Given the description of an element on the screen output the (x, y) to click on. 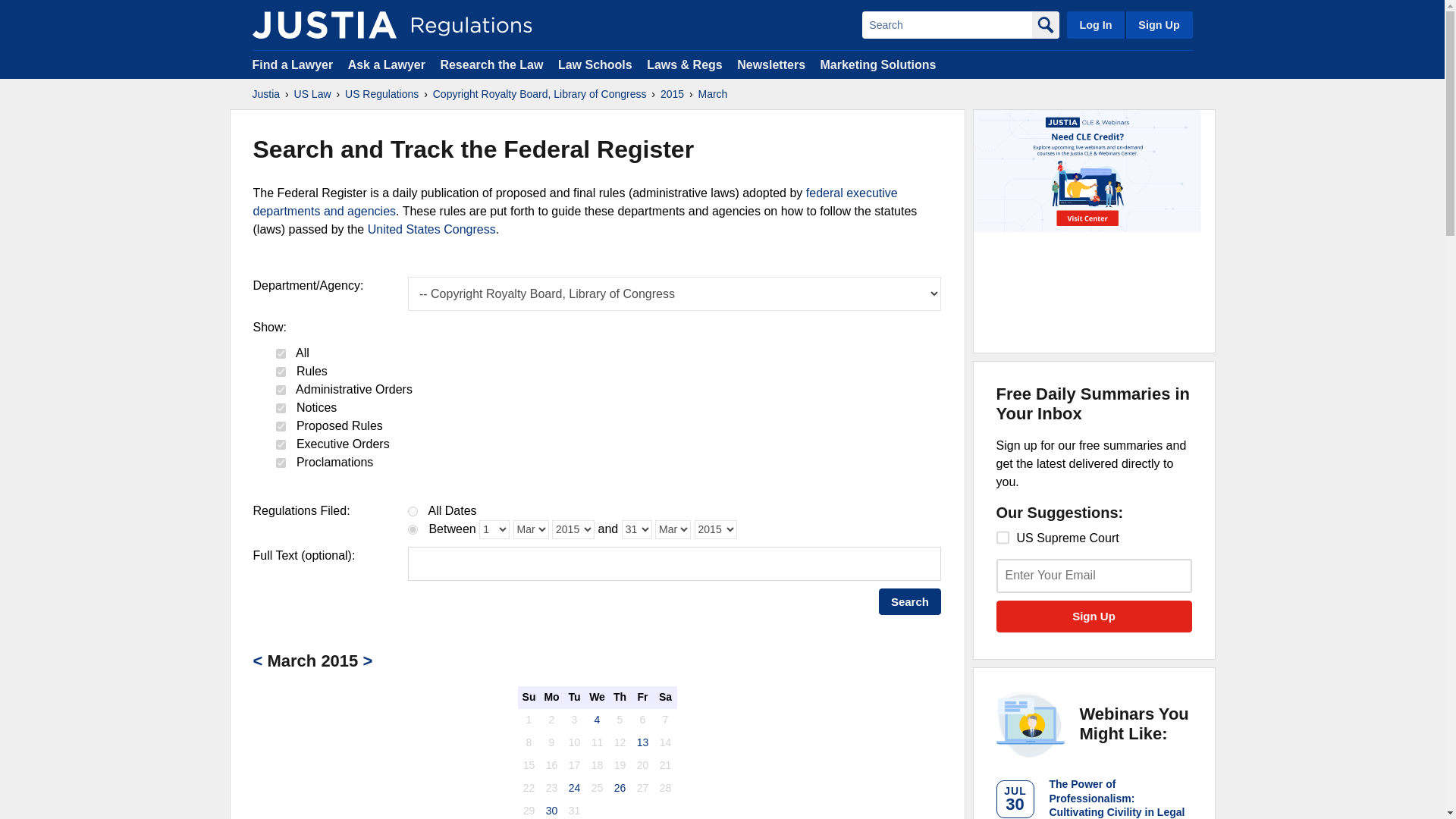
Justia Regulation Tracker (323, 24)
14 (1002, 536)
2015 (672, 93)
Copyright Royalty Board, Library of Congress (539, 93)
Full Text (673, 563)
yes (280, 389)
Start Year (572, 529)
Research the Law (491, 64)
US Law (312, 93)
yes (280, 408)
Search (945, 24)
between (412, 529)
March (711, 93)
Log In (1094, 24)
federal executive departments and agencies (575, 201)
